Given the description of an element on the screen output the (x, y) to click on. 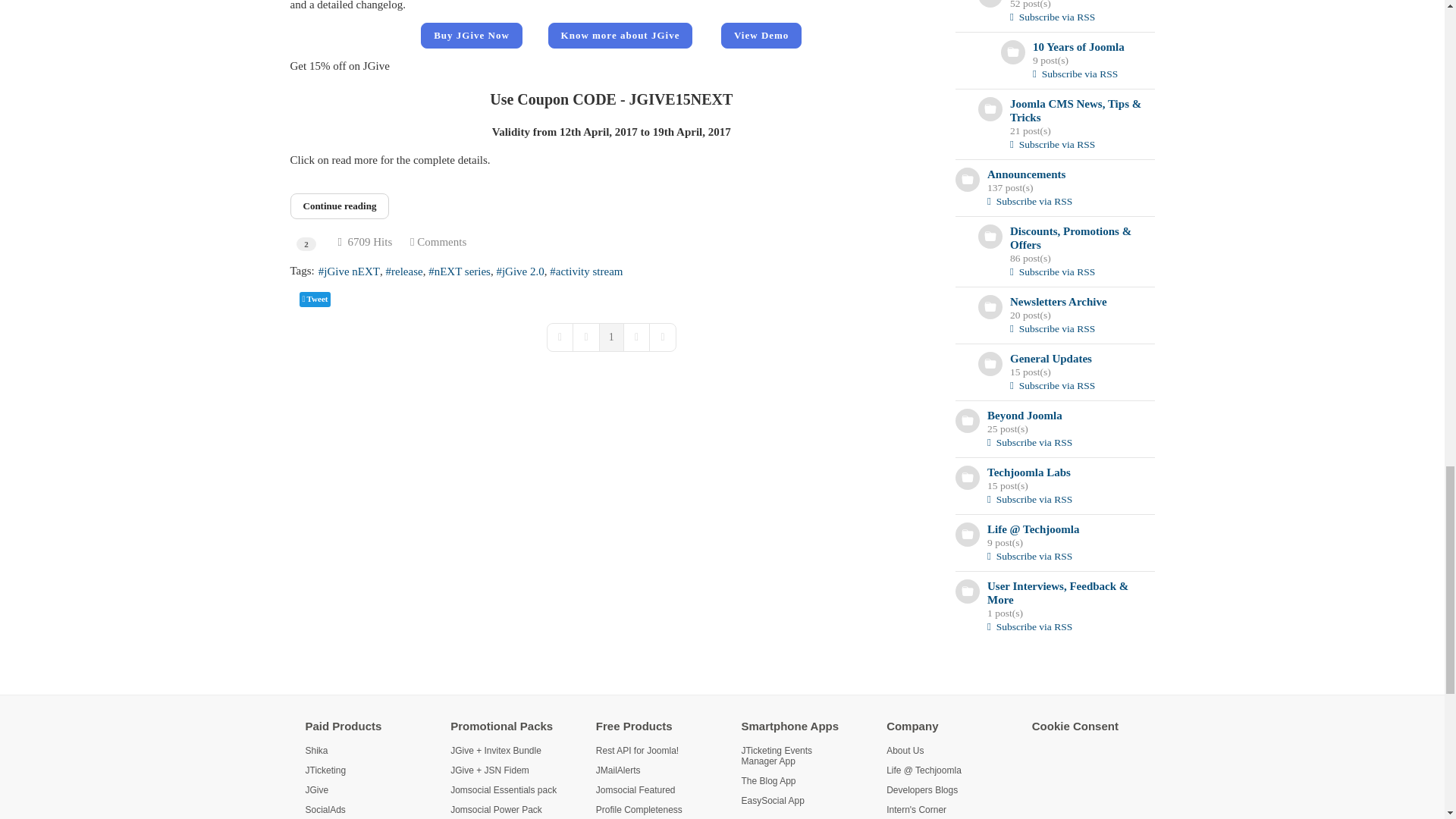
Know more about JGive (620, 35)
View Demo (761, 35)
2 votes (306, 243)
Buy JGive Now! (471, 35)
